Given the description of an element on the screen output the (x, y) to click on. 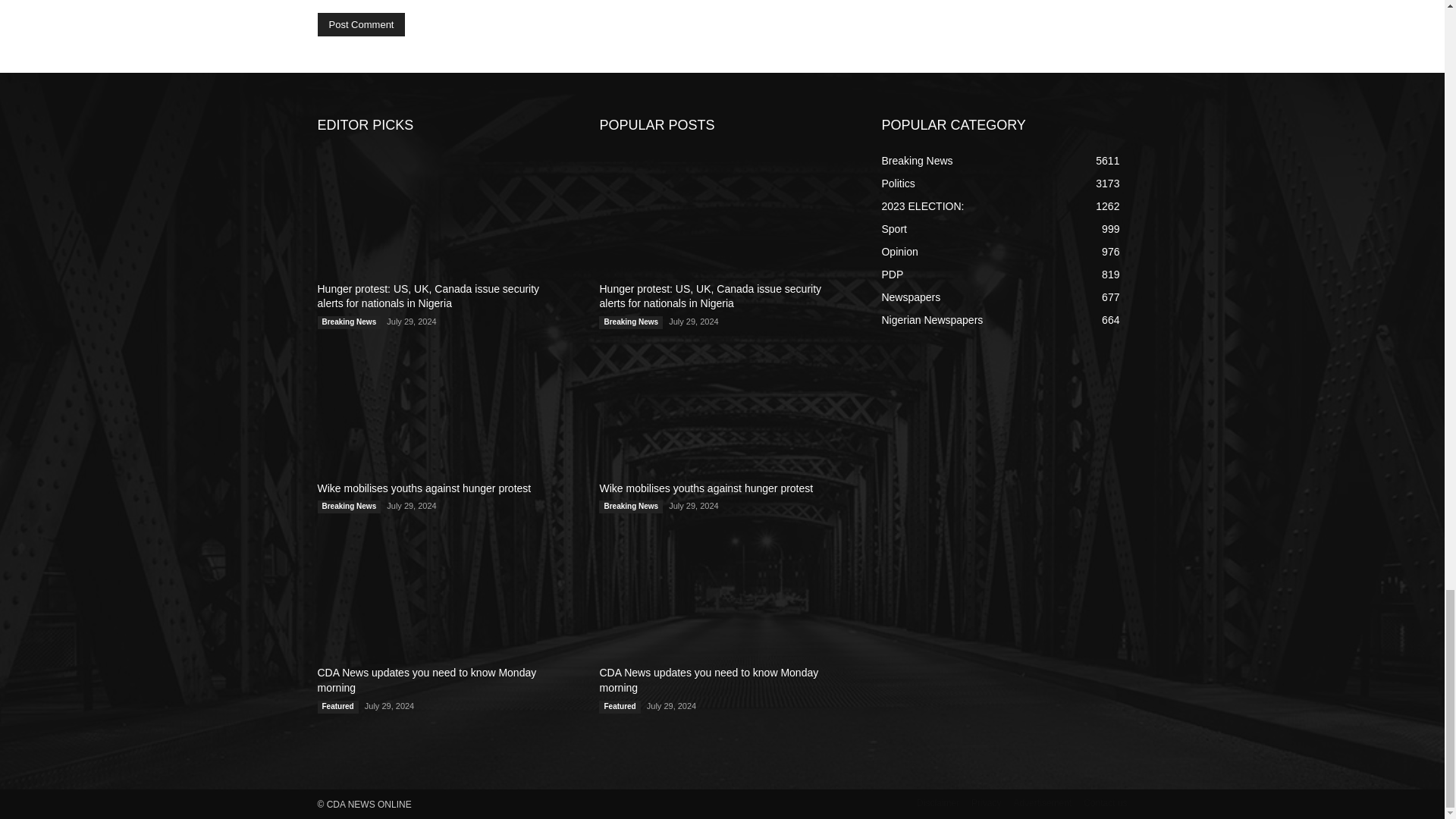
Post Comment (360, 24)
